Given the description of an element on the screen output the (x, y) to click on. 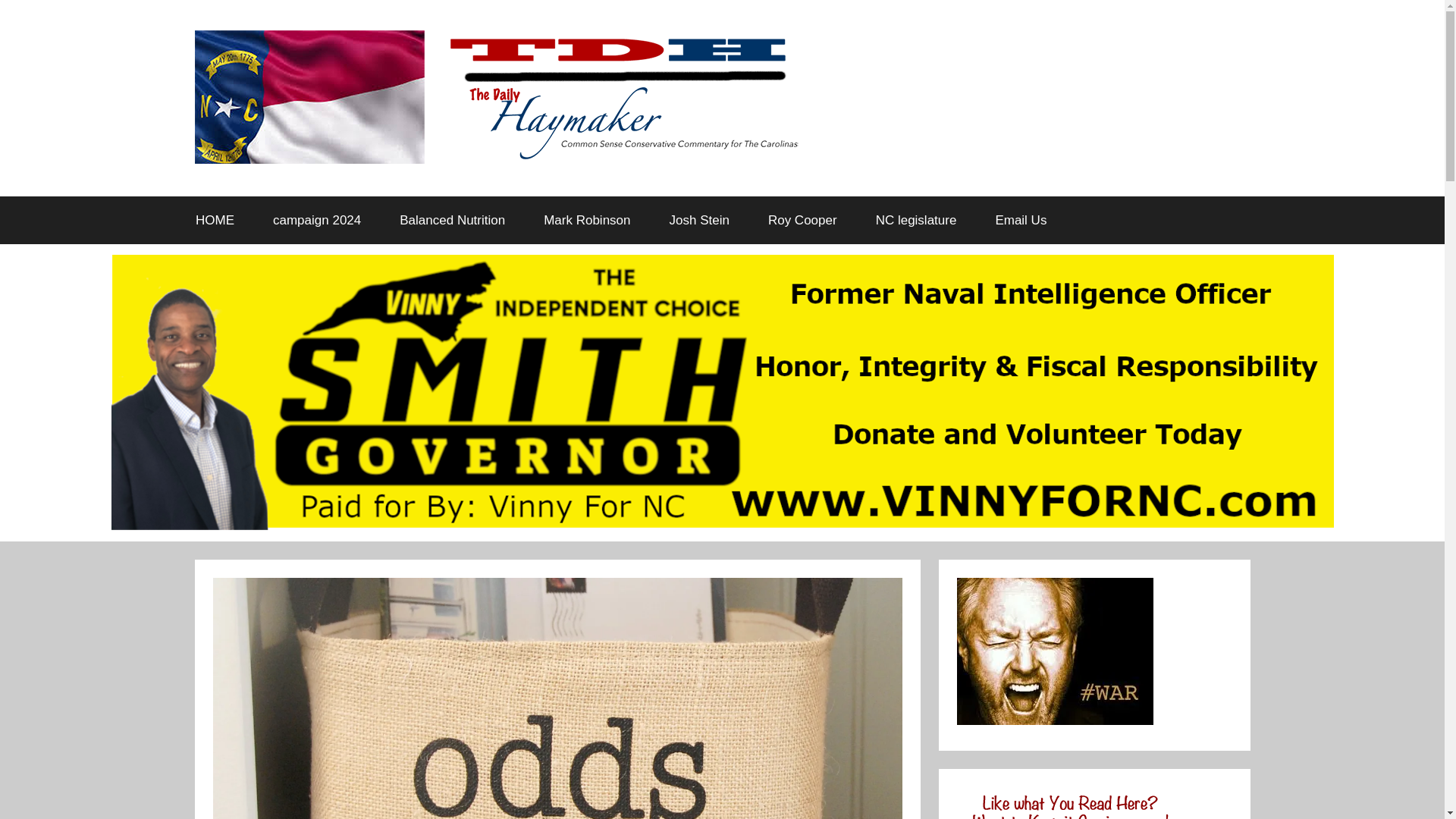
Mark Robinson (586, 219)
Email Us (1020, 219)
Josh Stein (698, 219)
HOME (214, 219)
campaign 2024 (316, 219)
Balanced Nutrition (452, 219)
Roy Cooper (802, 219)
NC legislature (915, 219)
